Given the description of an element on the screen output the (x, y) to click on. 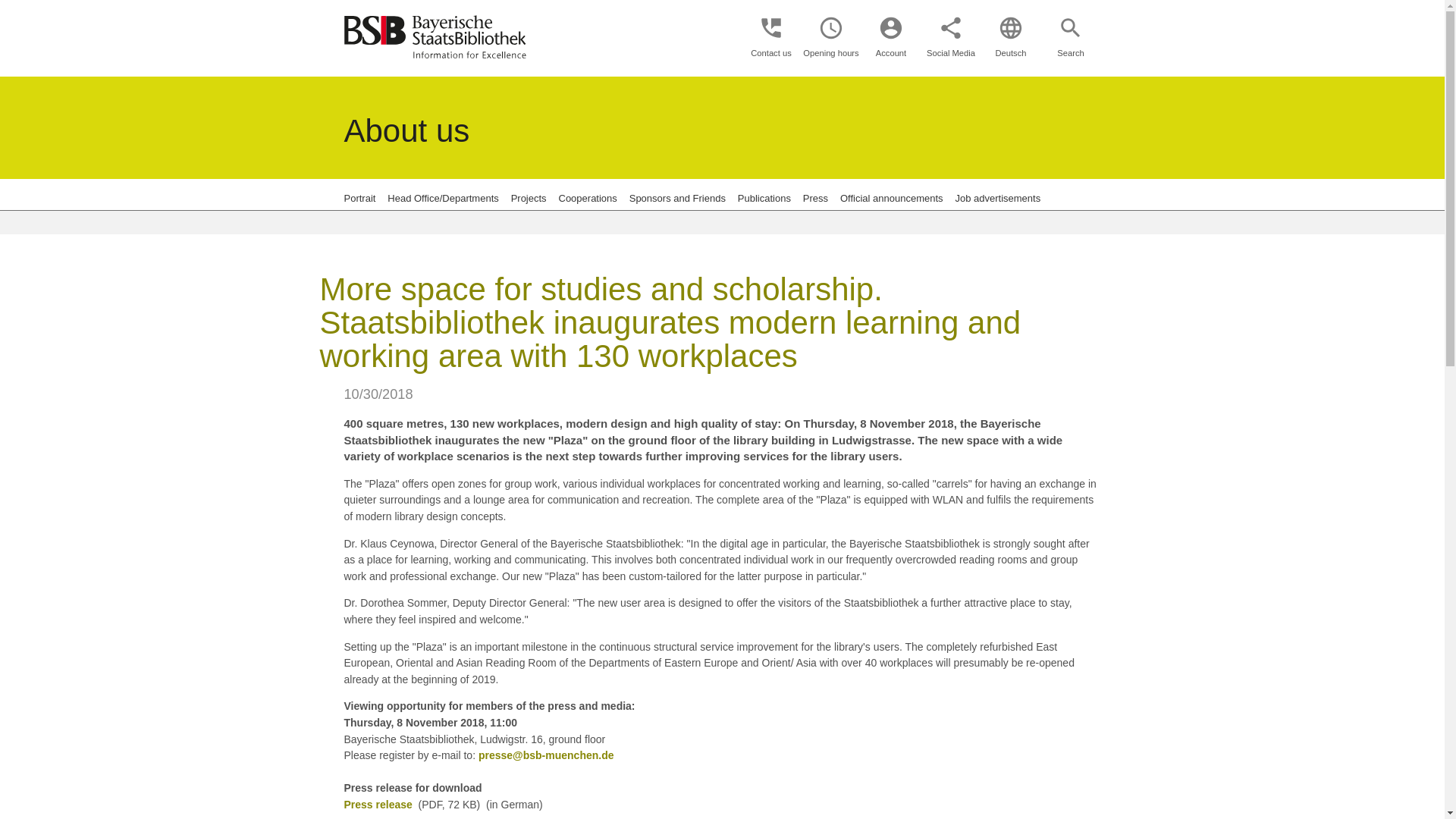
Portrait (359, 197)
Official announcements (891, 197)
Sponsors and Friends (676, 197)
Projects (529, 197)
Publications (764, 197)
Publications (764, 197)
Cooperations (586, 197)
Cooperations (586, 197)
Job advertisements (998, 197)
Official announcements (891, 197)
